Given the description of an element on the screen output the (x, y) to click on. 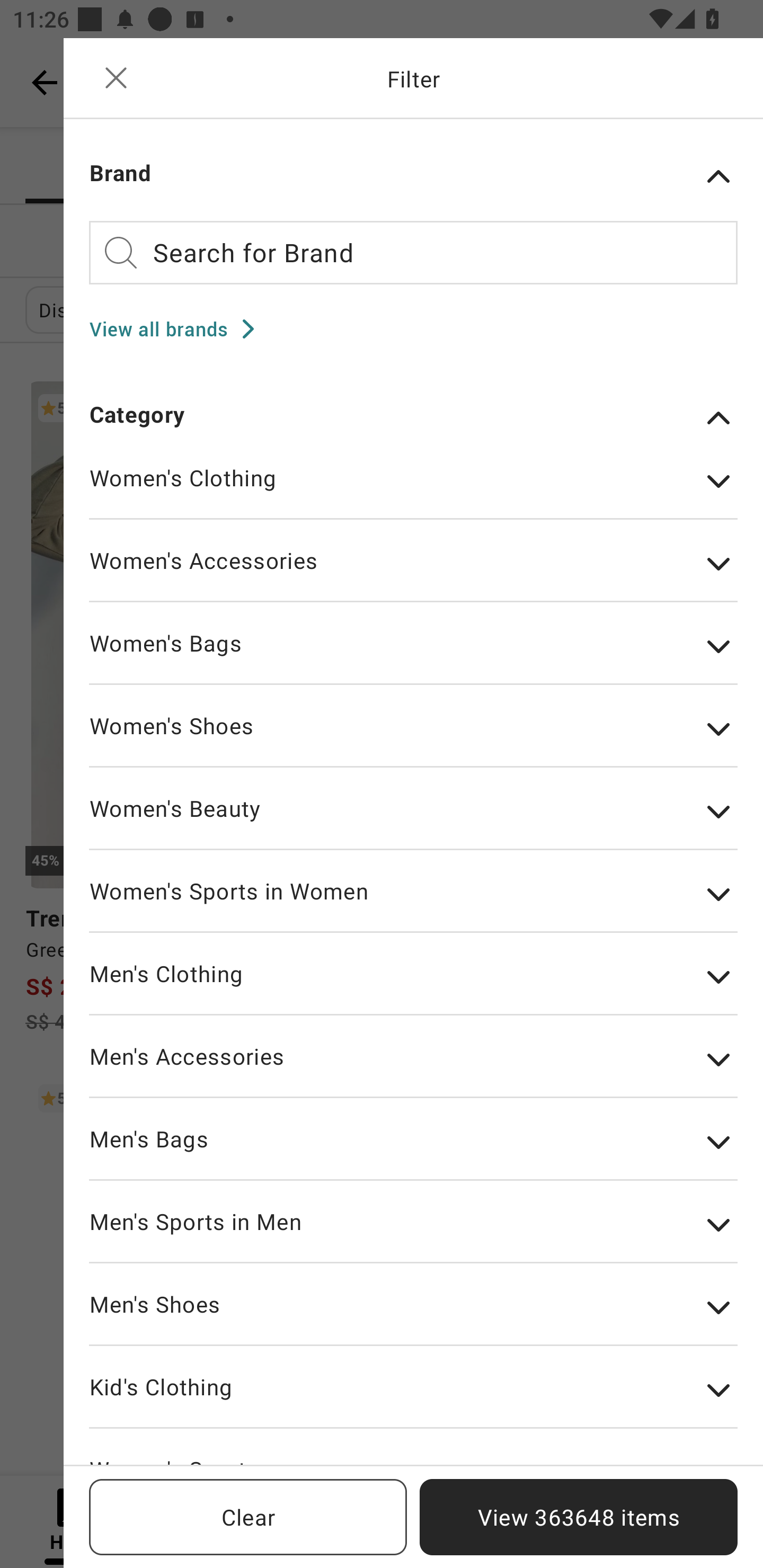
Brand (413, 176)
Search for Brand (413, 252)
View all brands (177, 328)
Category (413, 417)
Women's Clothing (413, 490)
Women's Accessories (413, 573)
Women's Bags (413, 656)
Women's Shoes (413, 739)
Women's Beauty (413, 821)
Women's Sports in Women (413, 903)
Men's Clothing (413, 987)
Men's Accessories (413, 1069)
Men's Bags (413, 1152)
Men's Sports in Men (413, 1234)
Men's Shoes (413, 1316)
Kid's Clothing (413, 1400)
Clear (247, 1516)
View 363648 items (578, 1516)
